Given the description of an element on the screen output the (x, y) to click on. 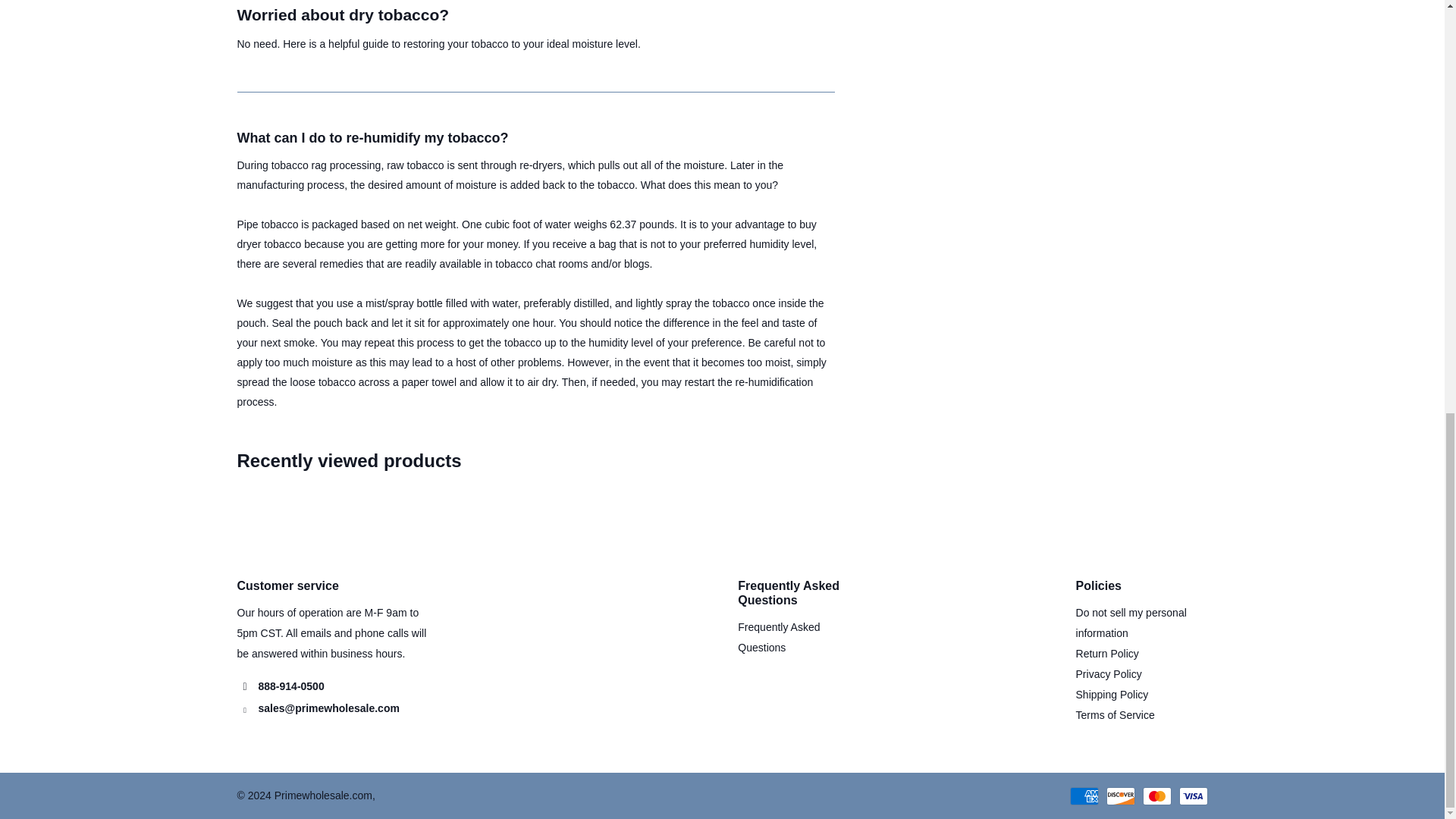
Discover (1119, 796)
Return Policy (1106, 653)
Frequently Asked Questions (778, 636)
Terms of Service (1114, 715)
Mastercard (1155, 796)
Shipping Policy (1111, 694)
Visa (1192, 796)
Privacy Policy (1108, 674)
American Express (1082, 796)
Do not sell my personal information (1130, 622)
